Given the description of an element on the screen output the (x, y) to click on. 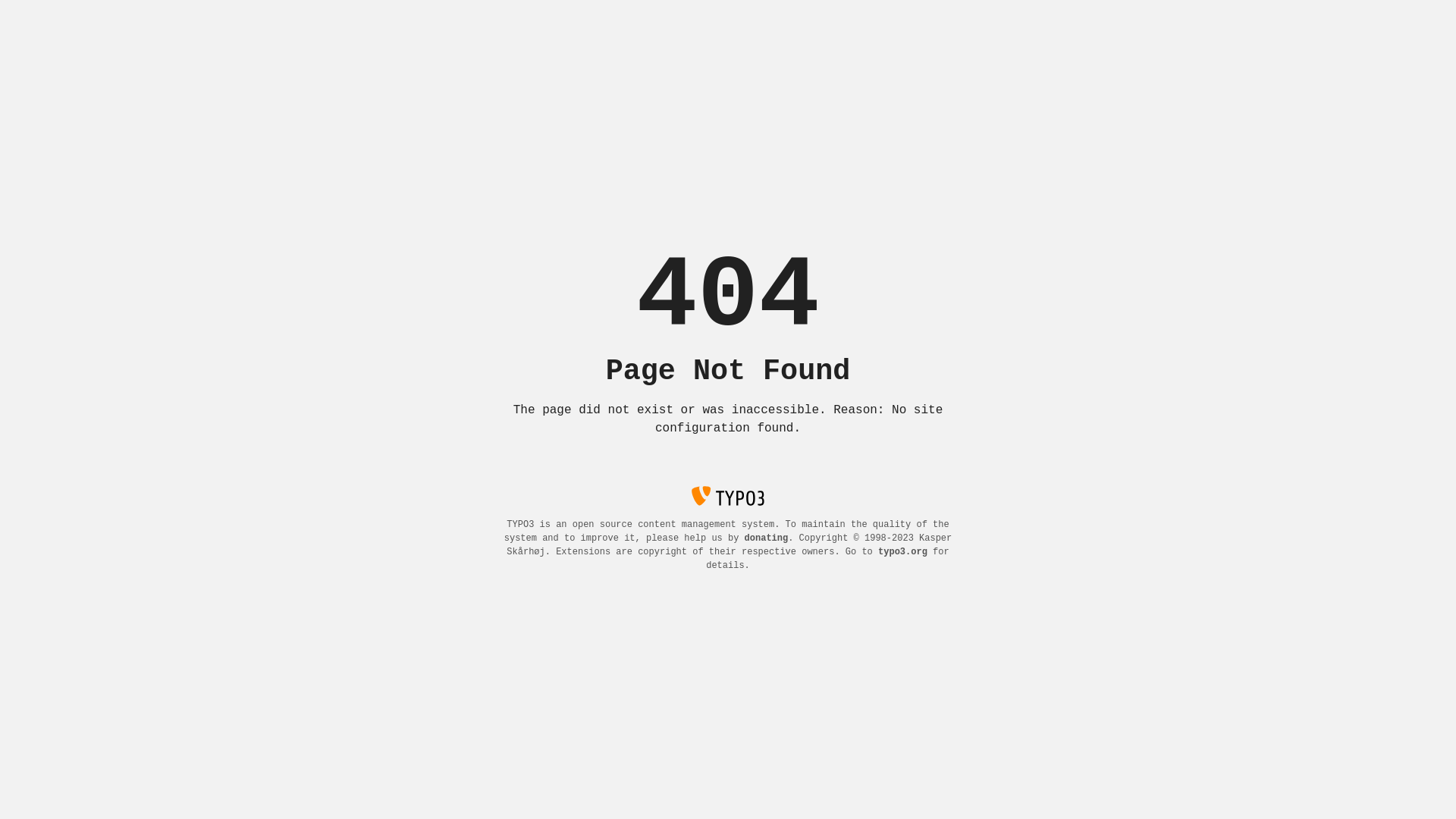
typo3.org Element type: text (902, 551)
donating Element type: text (766, 538)
